Given the description of an element on the screen output the (x, y) to click on. 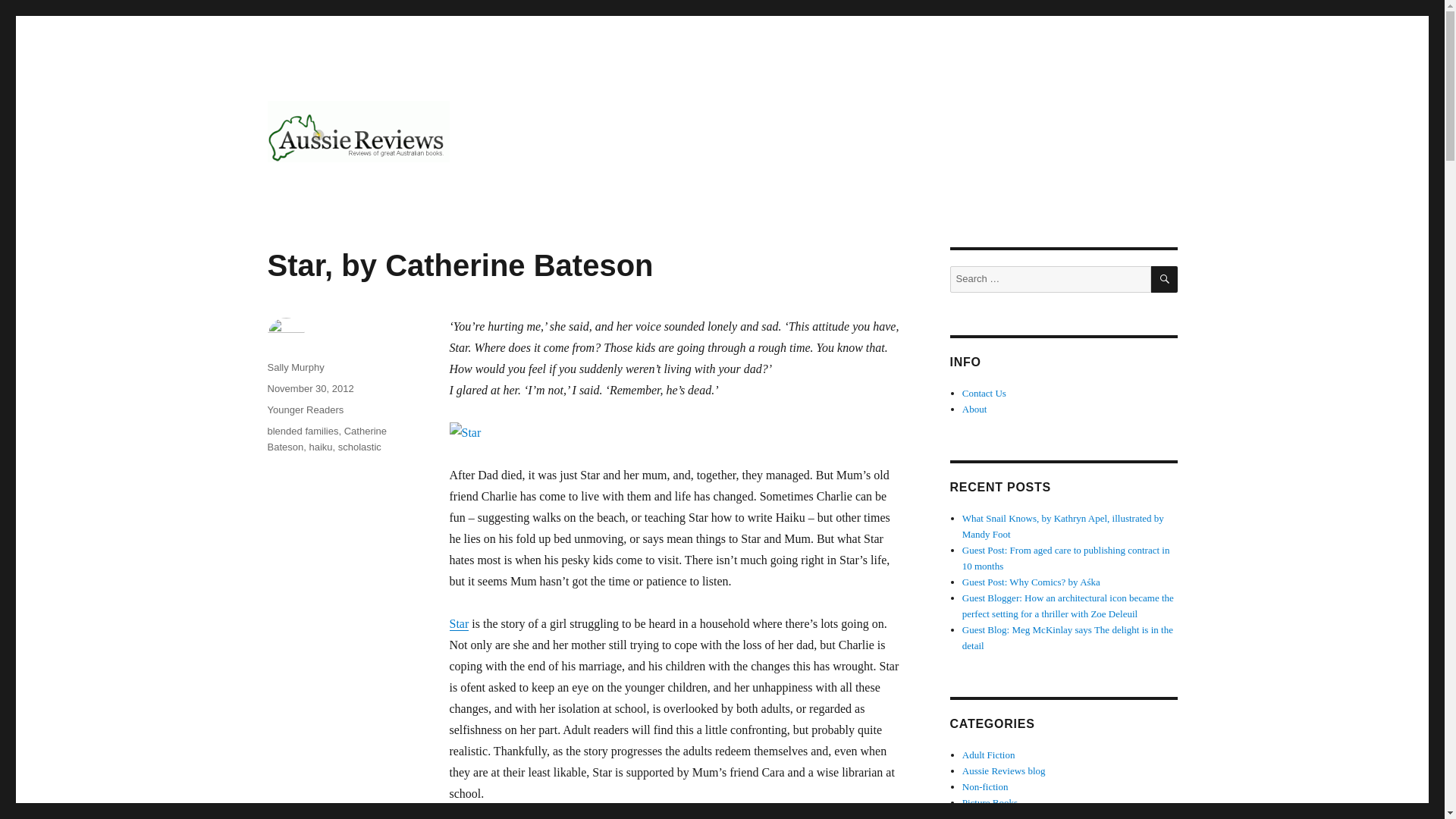
Contact Us (984, 392)
Adult Fiction (988, 754)
Catherine Bateson (326, 438)
Aussie Reviews blog (1003, 770)
November 30, 2012 (309, 388)
About (974, 408)
Younger Readers (304, 409)
Uncategorised (990, 816)
haiku (319, 446)
scholastic (359, 446)
Aussie Reviews (347, 186)
blended families (301, 430)
Sally Murphy (294, 367)
